Given the description of an element on the screen output the (x, y) to click on. 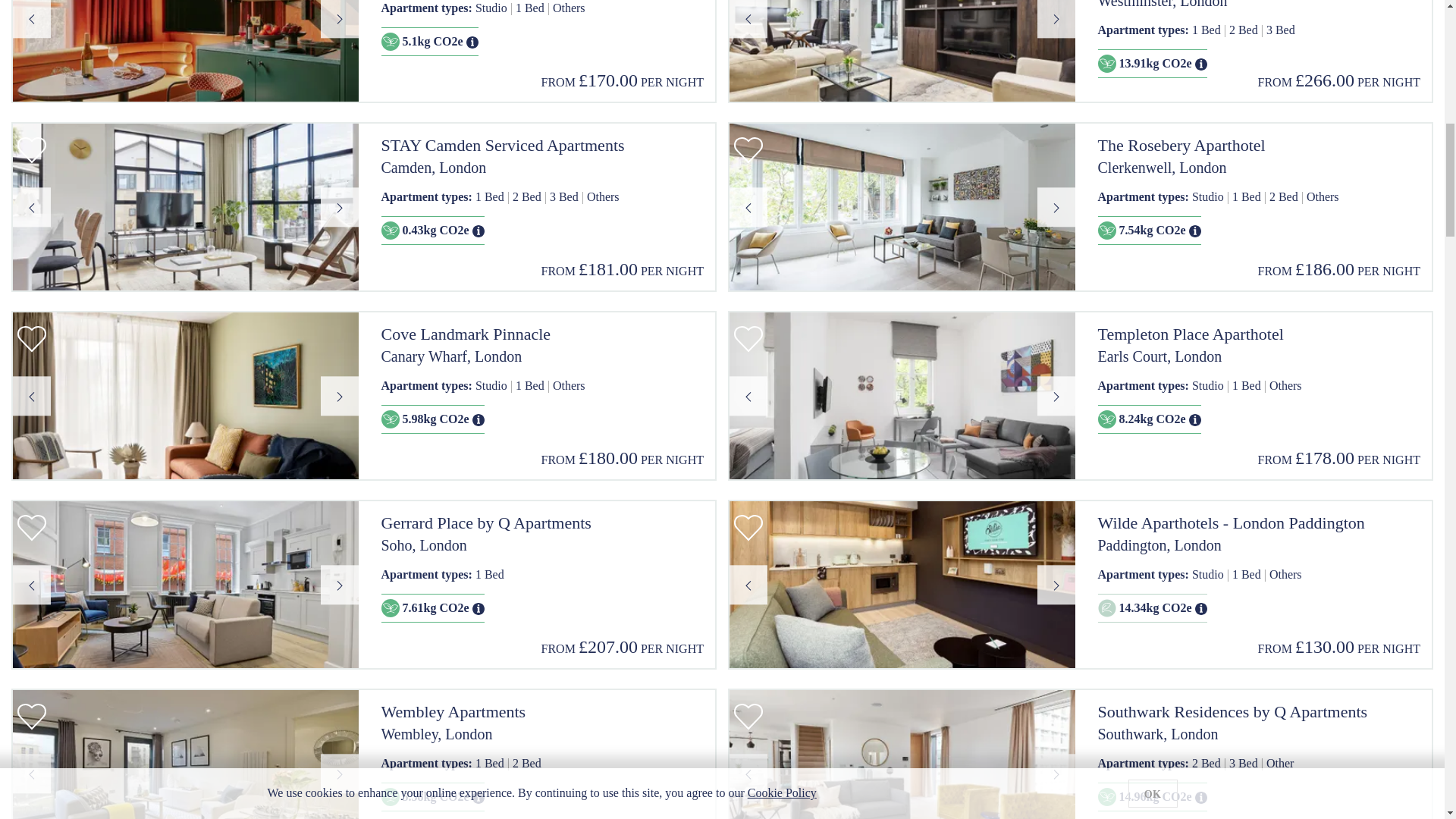
STAY Camden Serviced Apartments (541, 146)
